Given the description of an element on the screen output the (x, y) to click on. 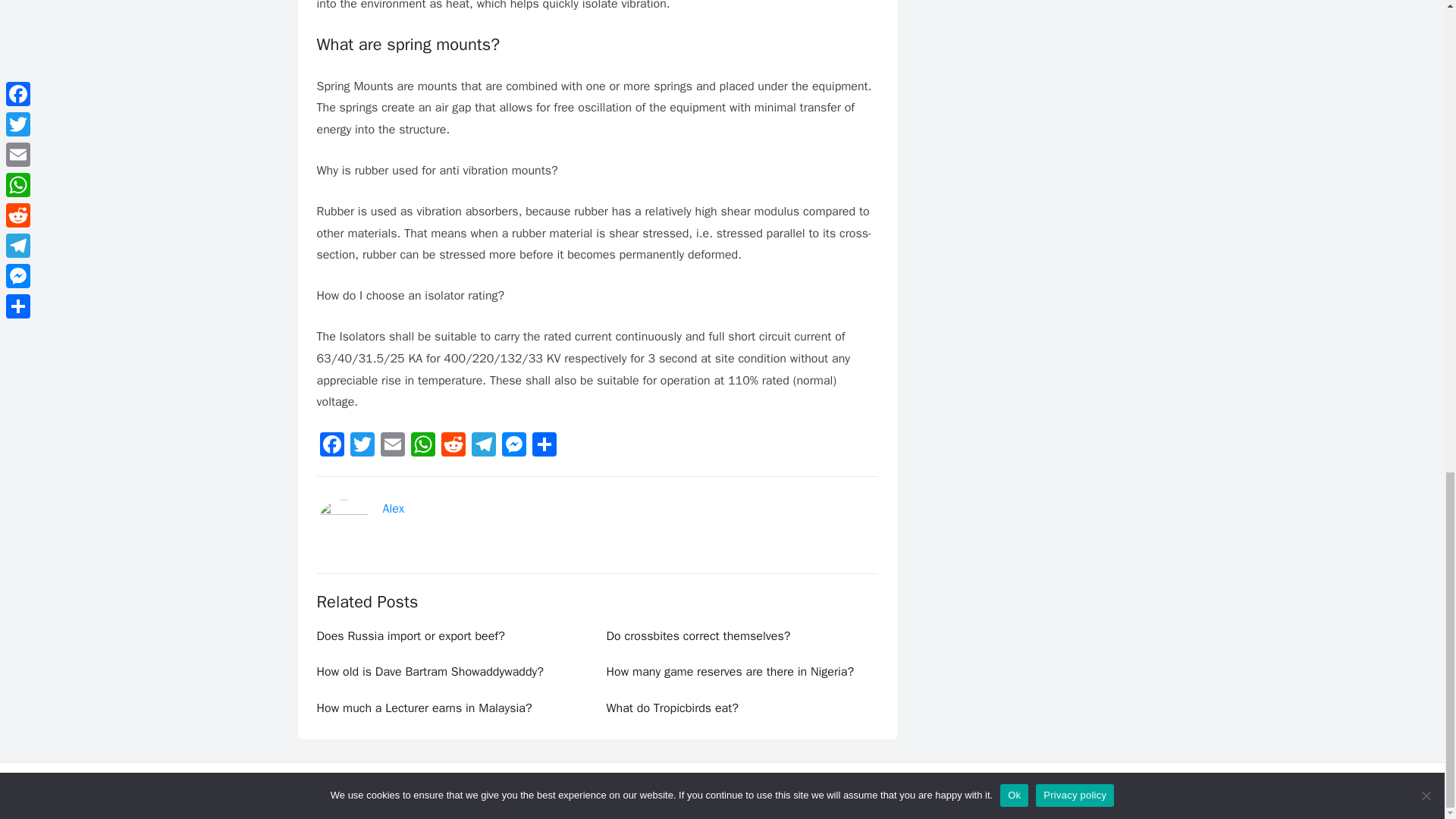
Messenger (514, 446)
WhatsApp (422, 446)
Reddit (453, 446)
Twitter (362, 446)
Share (544, 446)
Alex (392, 508)
Twitter (362, 446)
Facebook (332, 446)
Does Russia import or export beef? (411, 635)
WhatsApp (422, 446)
Facebook (332, 446)
Telegram (483, 446)
Email (392, 446)
Email (392, 446)
Telegram (483, 446)
